Given the description of an element on the screen output the (x, y) to click on. 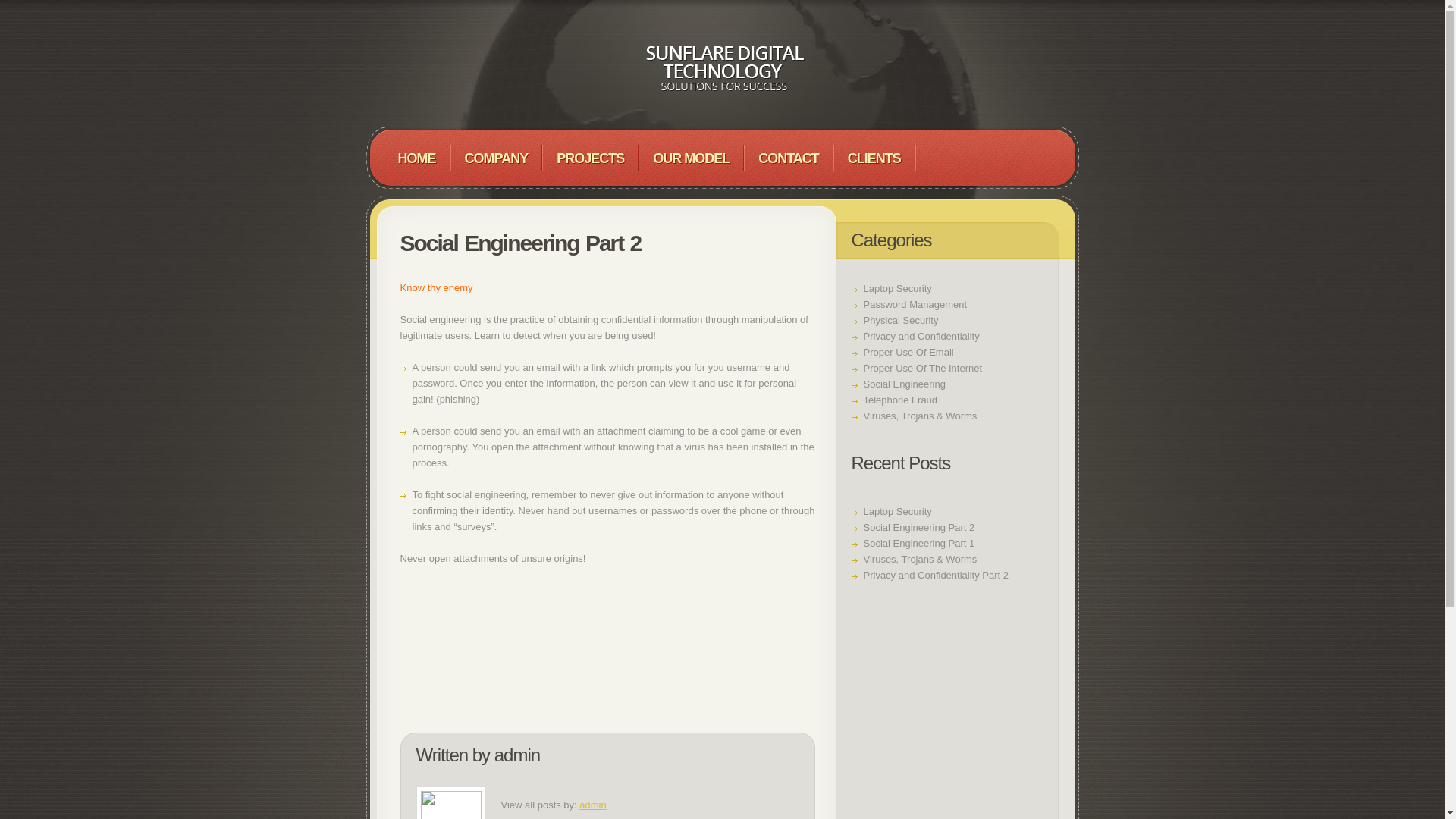
PROJECTS (590, 158)
Telephone Fraud (900, 399)
Privacy and Confidentiality (920, 336)
View all posts filed under Laptop Security (897, 288)
admin (592, 804)
COMPANY (495, 158)
Posts by admin (592, 804)
Social Engineering Part 1 (918, 542)
Laptop Security (897, 288)
Password Management (914, 304)
